Given the description of an element on the screen output the (x, y) to click on. 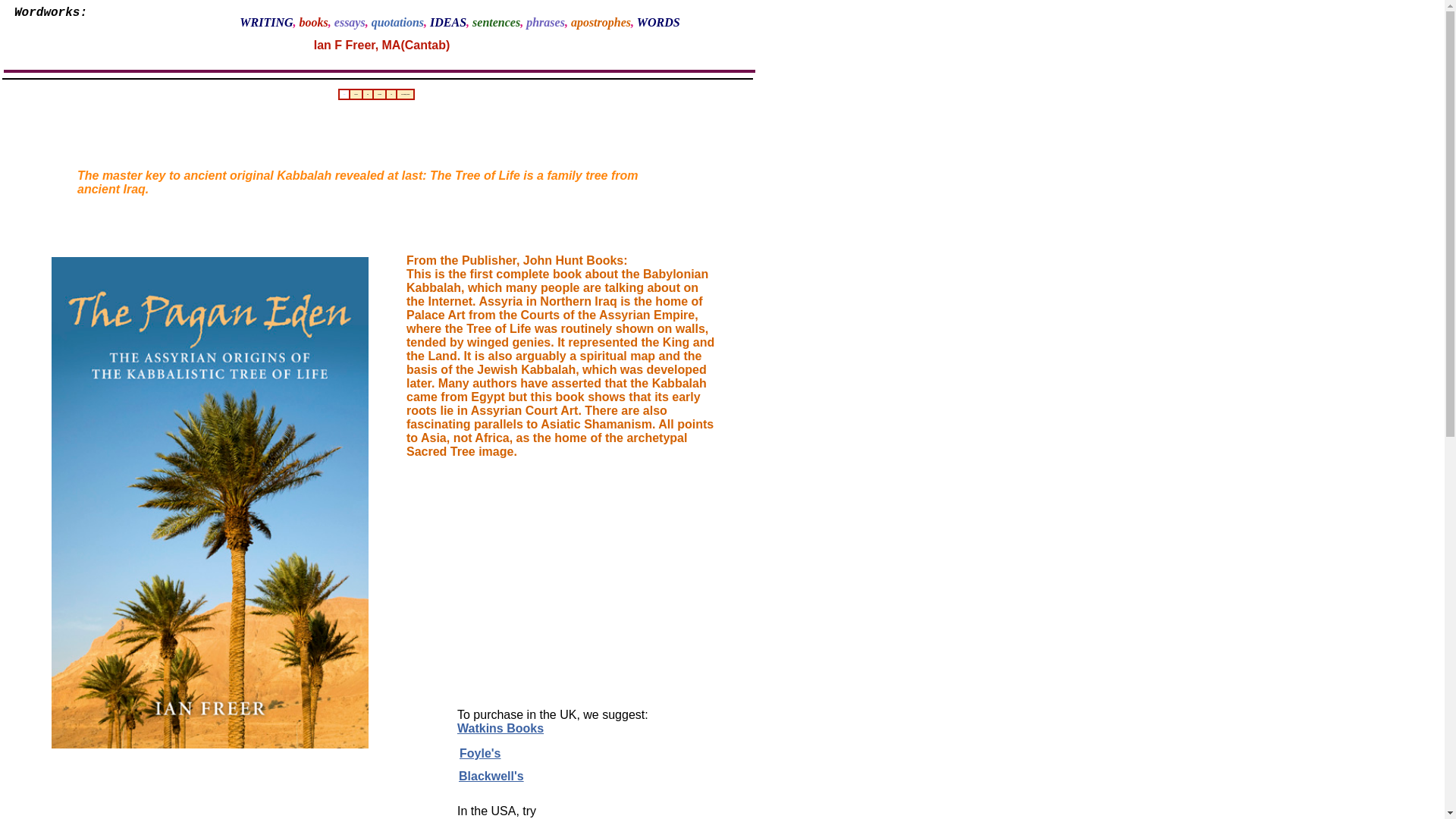
Watkins Books (500, 727)
Home (344, 94)
India 2013 (355, 94)
Foyle's (480, 753)
Sportesprit (379, 94)
Yoga  (367, 94)
Focus Training, Coaching (405, 94)
Blackwell's (491, 775)
NLP (391, 94)
